Given the description of an element on the screen output the (x, y) to click on. 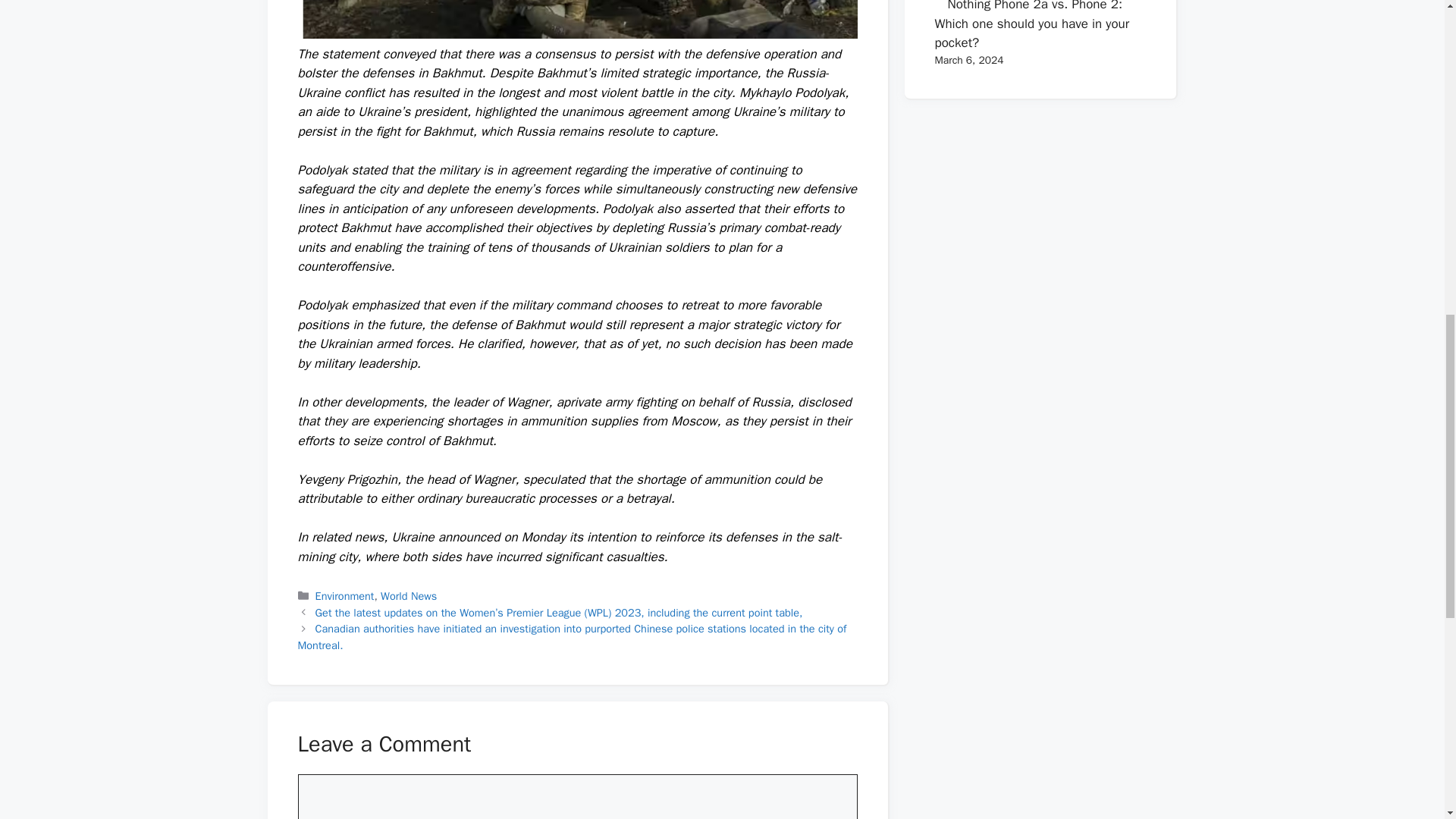
Environment (344, 595)
World News (408, 595)
